Given the description of an element on the screen output the (x, y) to click on. 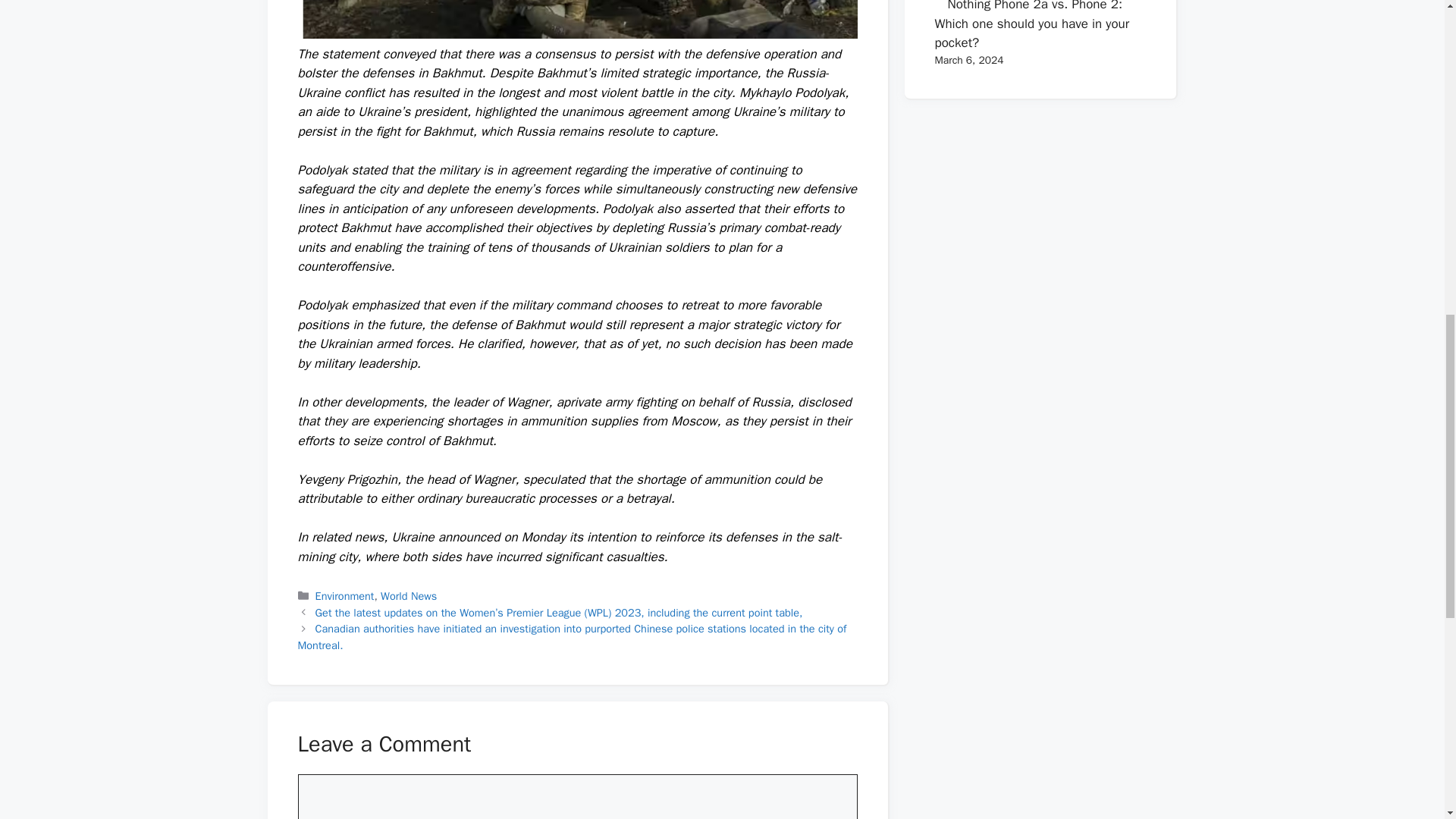
Environment (344, 595)
World News (408, 595)
